Given the description of an element on the screen output the (x, y) to click on. 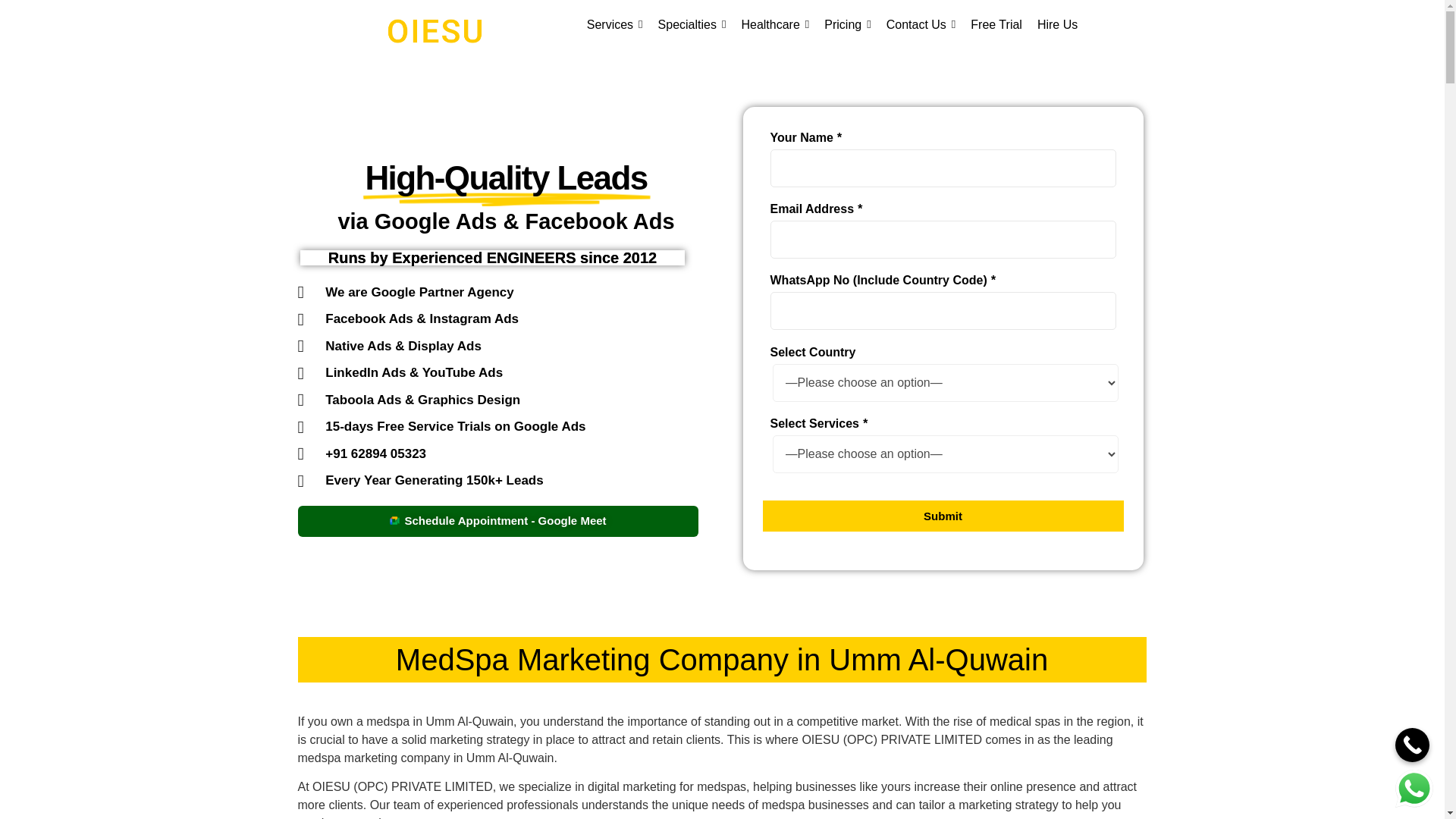
WhatsApp us (1413, 788)
Services (614, 24)
Specialties (692, 24)
Submit (943, 515)
